Given the description of an element on the screen output the (x, y) to click on. 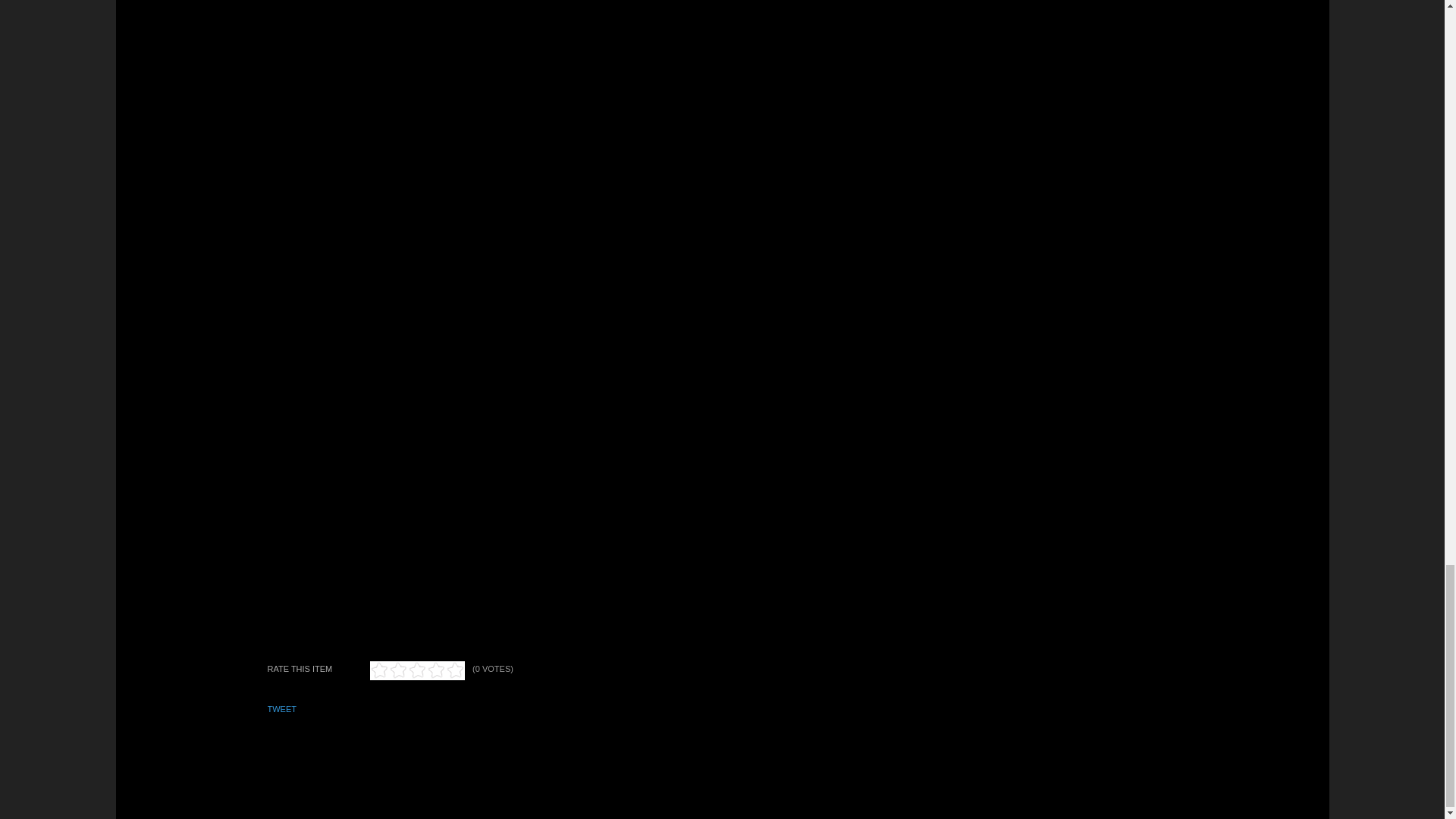
4 (407, 670)
2 (388, 670)
1 star out of 5 (378, 670)
3 (397, 670)
TWEET (281, 708)
5 stars out of 5 (416, 670)
5 (416, 670)
4 stars out of 5 (407, 670)
2 stars out of 5 (388, 670)
3 stars out of 5 (397, 670)
